Given the description of an element on the screen output the (x, y) to click on. 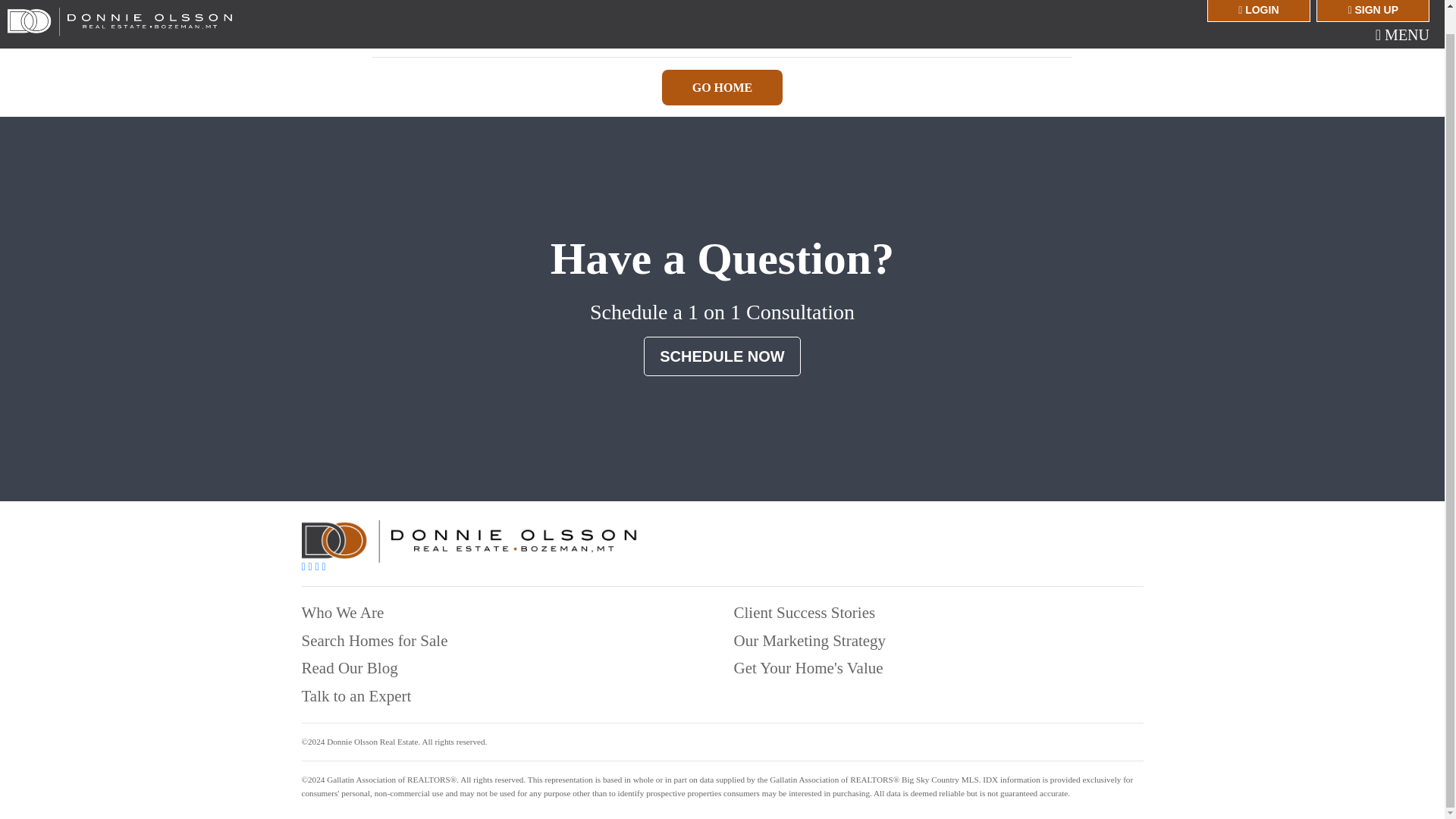
Our Marketing Strategy (809, 640)
Read Our Blog (349, 668)
Client Success Stories (804, 612)
Who We Are (342, 612)
Get Your Home's Value (808, 668)
GO HOME (722, 87)
SCHEDULE NOW (721, 355)
Search Homes for Sale (374, 640)
Talk to an Expert (356, 696)
